Given the description of an element on the screen output the (x, y) to click on. 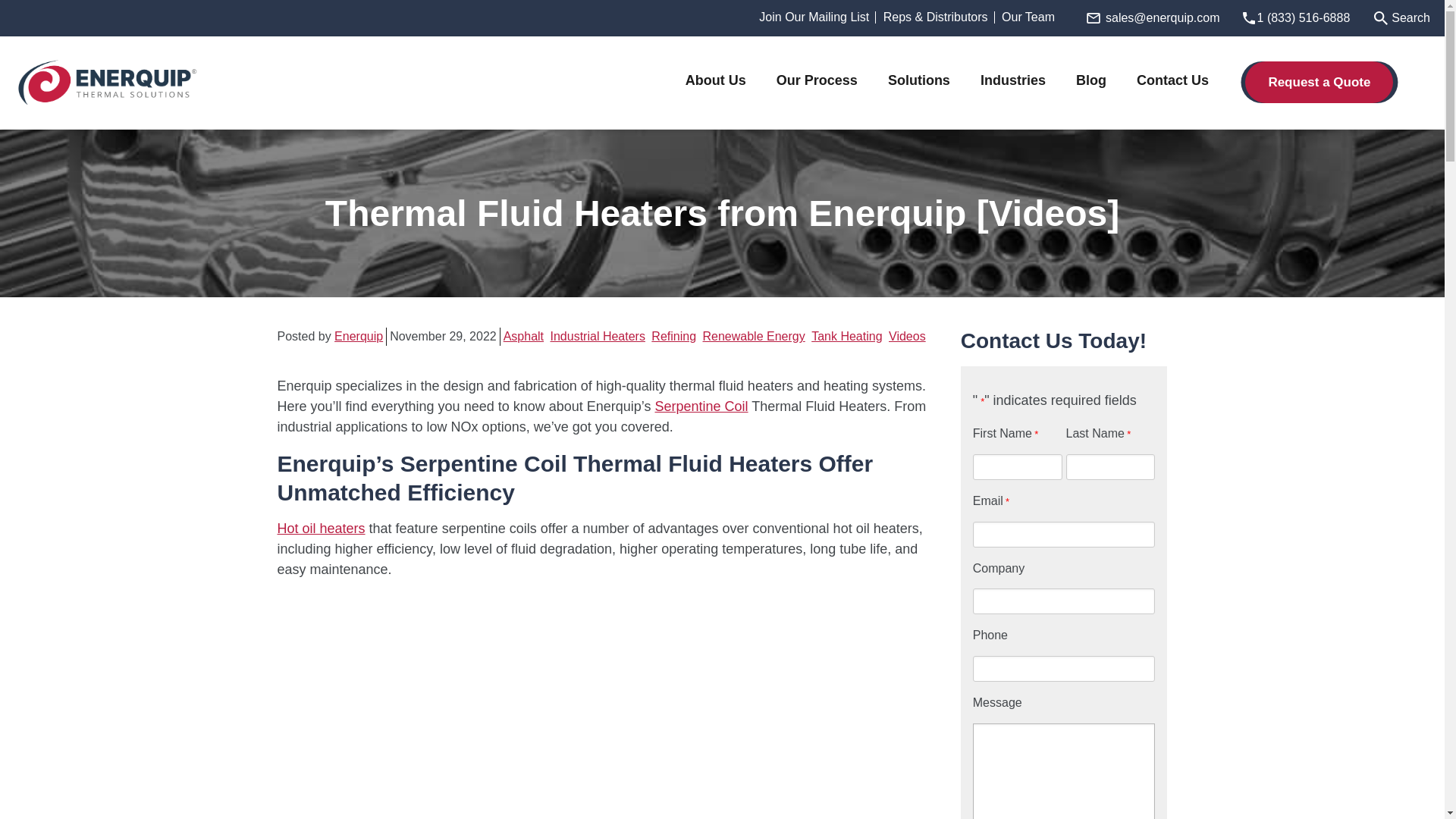
Join Our Mailing List (813, 17)
Solutions (919, 80)
Enerquip Thermal Solutions (108, 82)
Our Team (1027, 17)
Search (1401, 18)
Our Process (816, 80)
About Us (716, 80)
